Given the description of an element on the screen output the (x, y) to click on. 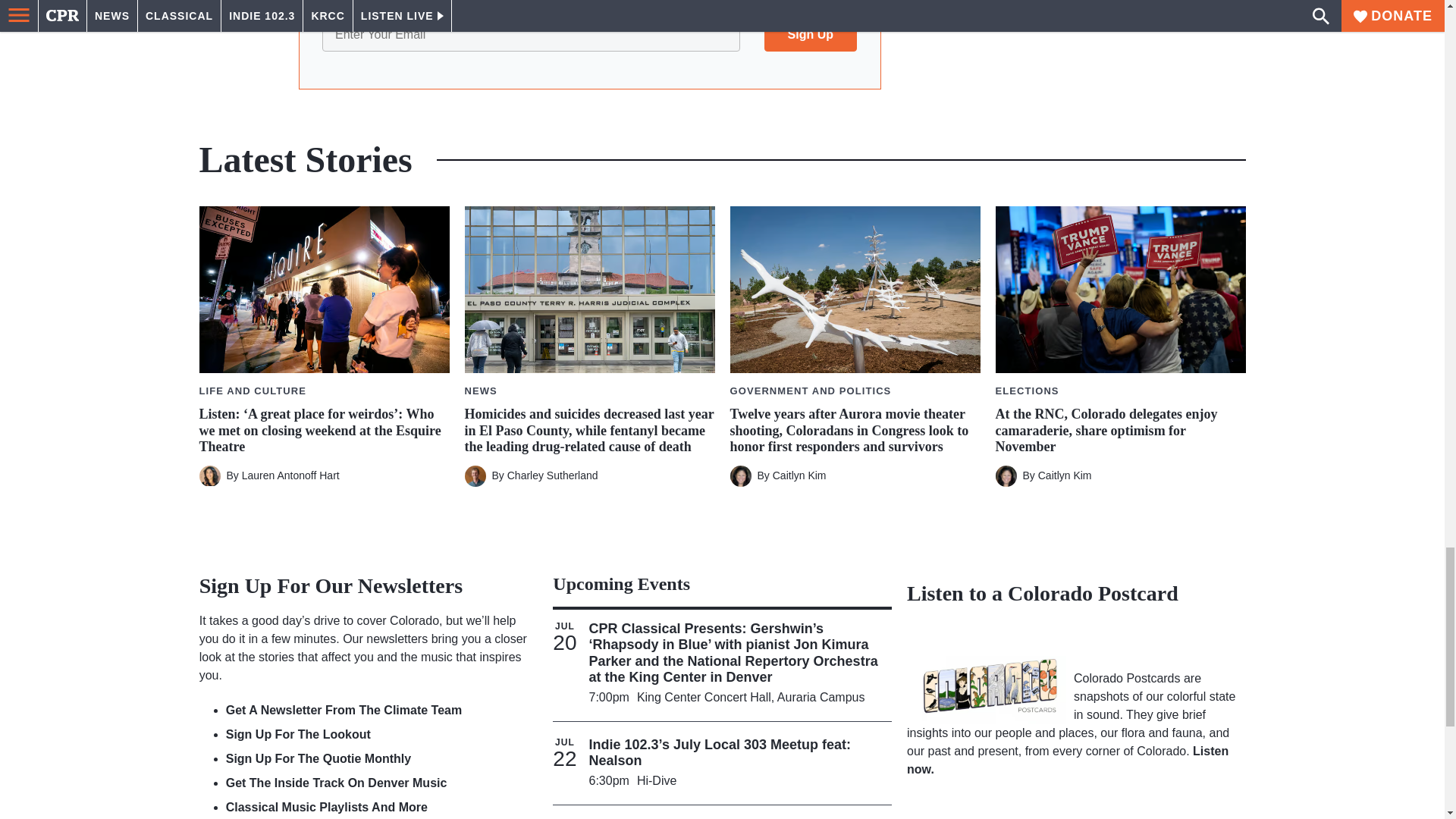
newsArticleSignup (589, 38)
